Given the description of an element on the screen output the (x, y) to click on. 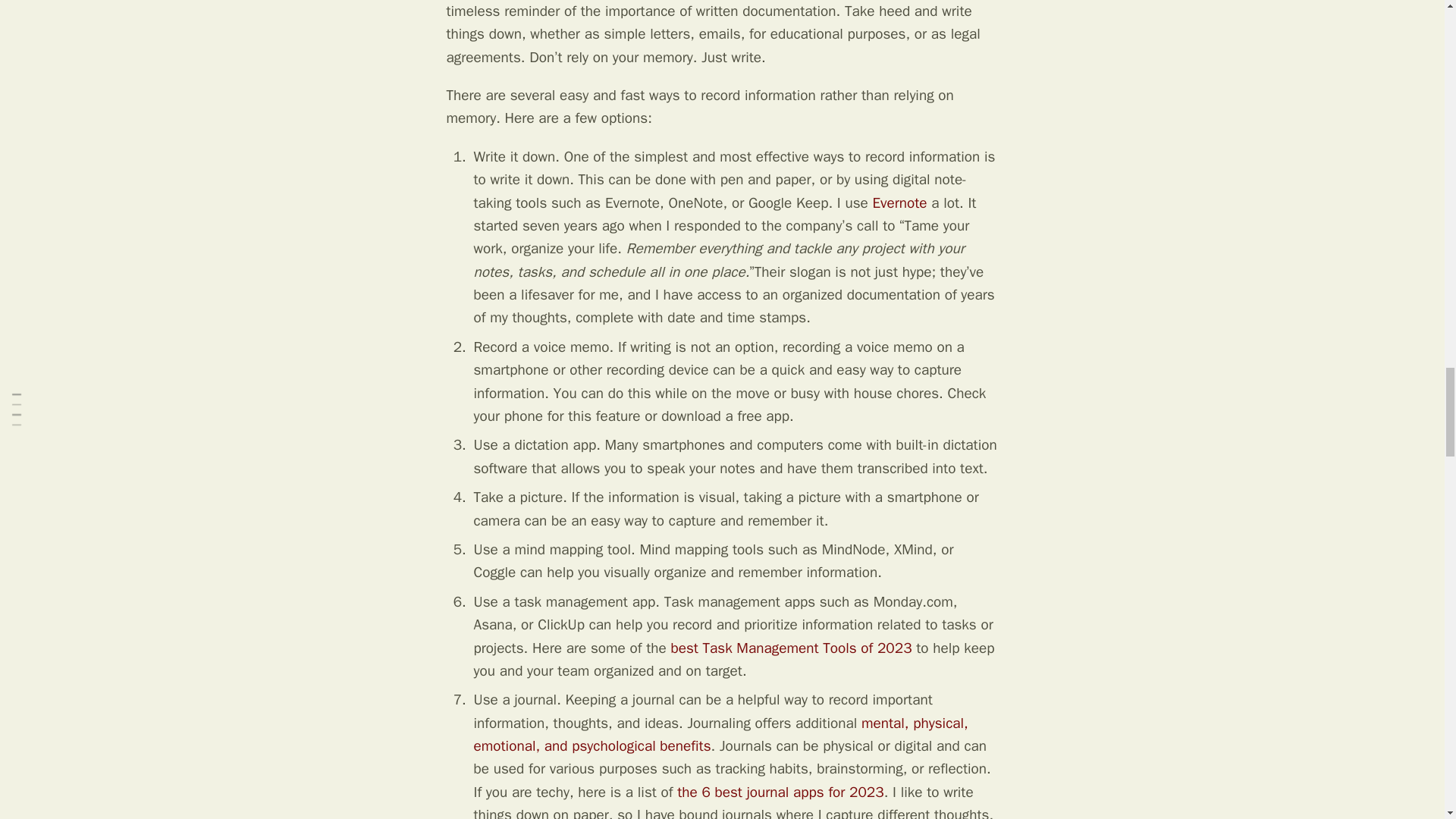
the 6 best journal apps for 2023 (780, 791)
mental, physical, emotional, and psychological benefits (720, 734)
best Task Management Tools of 2023 (790, 648)
Evernote (899, 203)
